Given the description of an element on the screen output the (x, y) to click on. 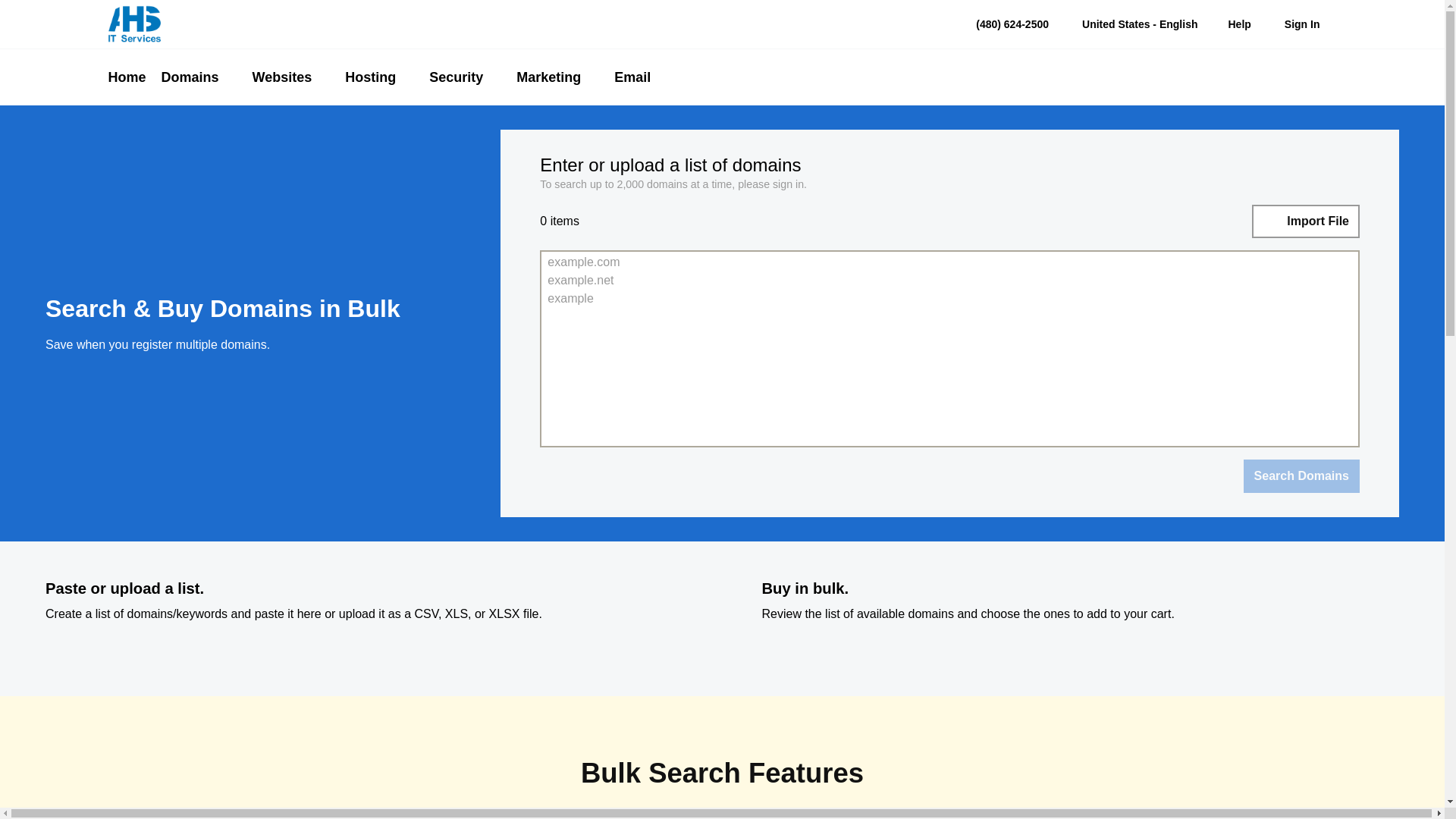
United States - English (1137, 24)
Home (129, 77)
Contact Us (963, 24)
Help (1238, 24)
United States - English (1128, 24)
